Given the description of an element on the screen output the (x, y) to click on. 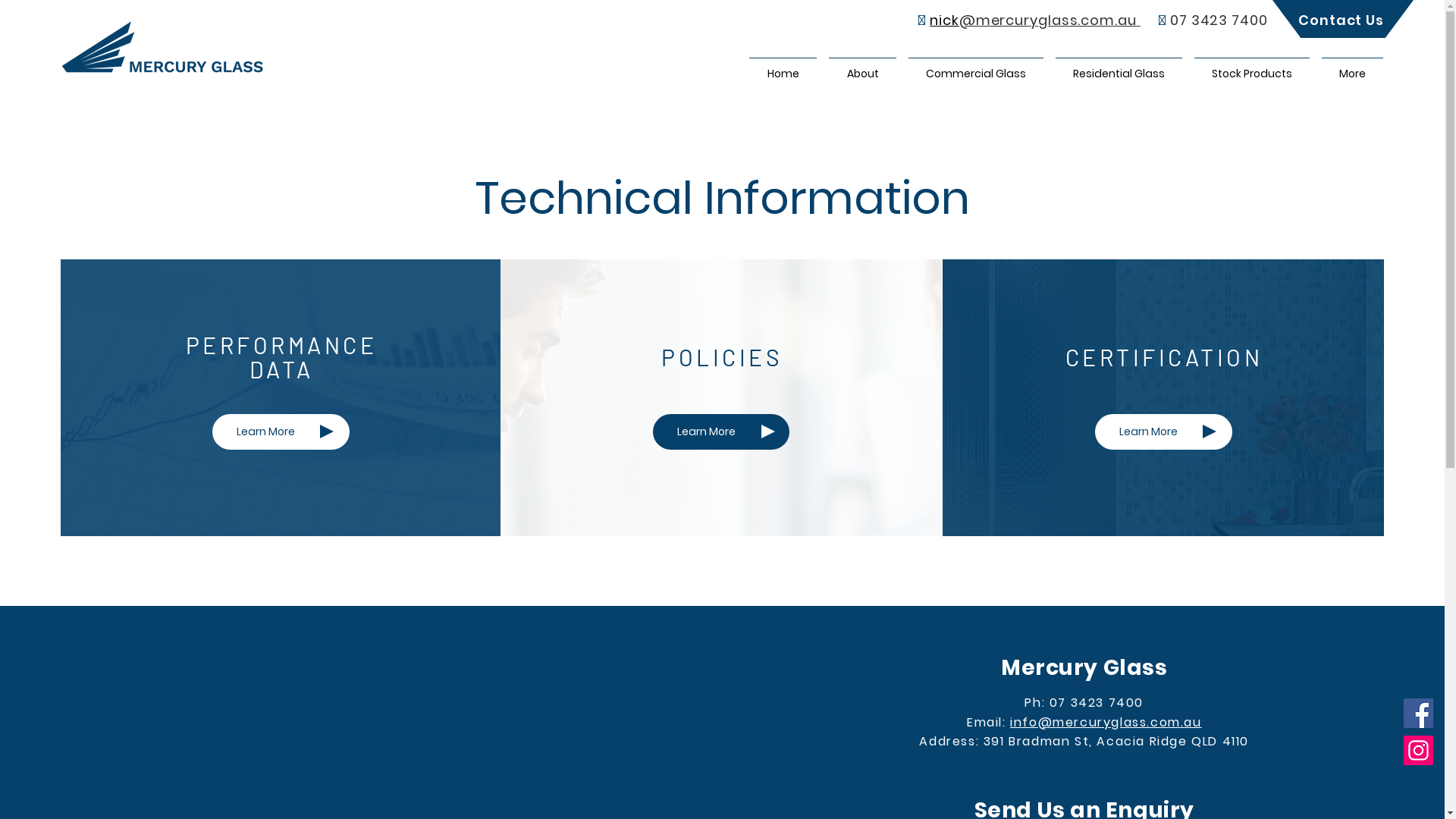
Learn More Element type: text (720, 431)
info@mercuryglass.com.au Element type: text (1105, 722)
Commercial Glass Element type: text (975, 66)
07 3423 7400 Element type: text (1218, 19)
Residential Glass Element type: text (1118, 66)
About Element type: text (862, 66)
Stock Products Element type: text (1251, 66)
Learn More Element type: text (280, 431)
Learn More Element type: text (1163, 431)
@mercuryglass.com.au Element type: text (1047, 19)
Contact Us Element type: text (1340, 19)
Home Element type: text (782, 66)
